Given the description of an element on the screen output the (x, y) to click on. 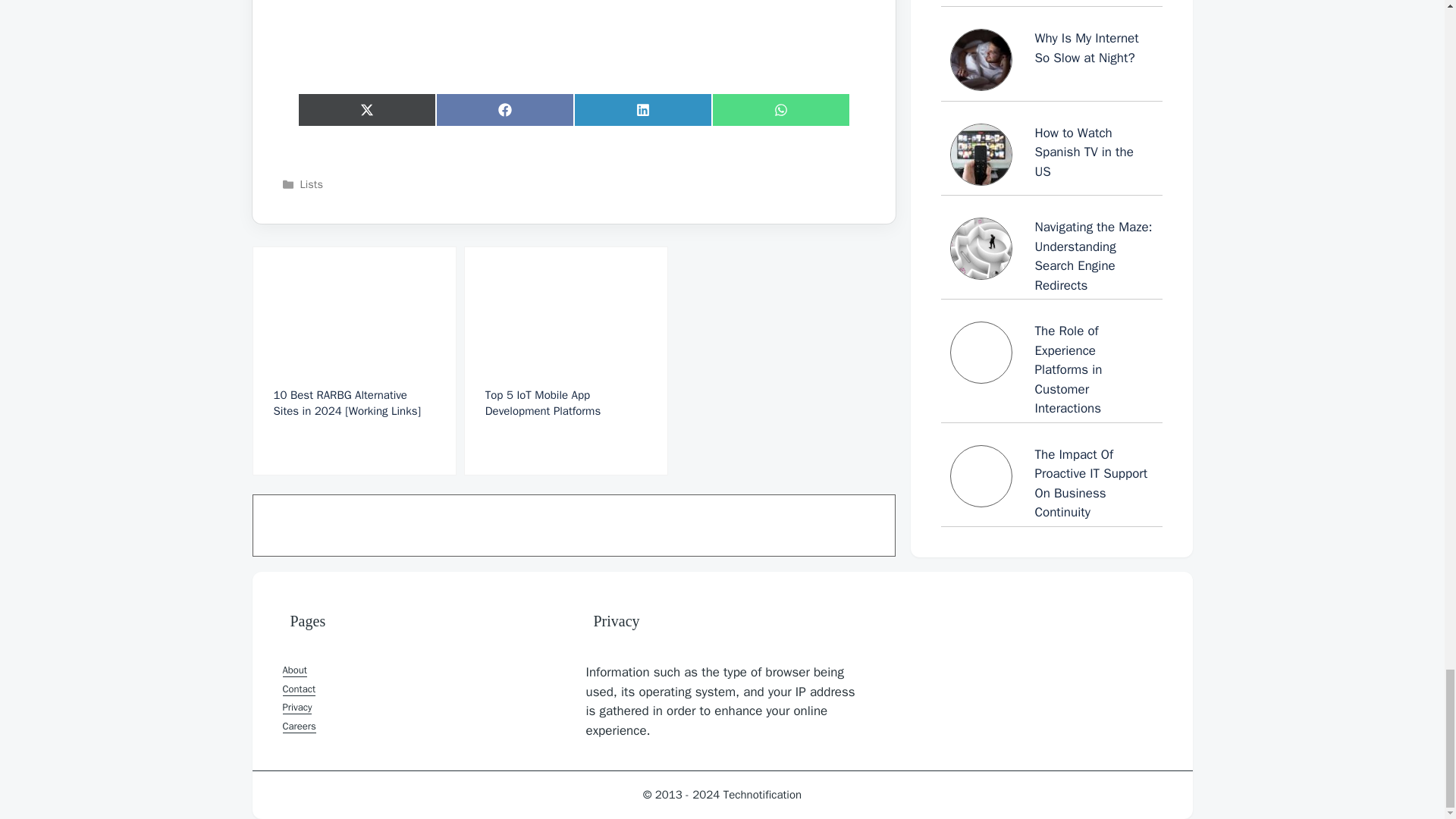
SHARE ON FACEBOOK (504, 109)
SHARE ON LINKEDIN (642, 109)
Lists (311, 183)
SHARE ON WHATSAPP (779, 109)
Top 5 IoT Mobile App Development Platforms (566, 360)
